Given the description of an element on the screen output the (x, y) to click on. 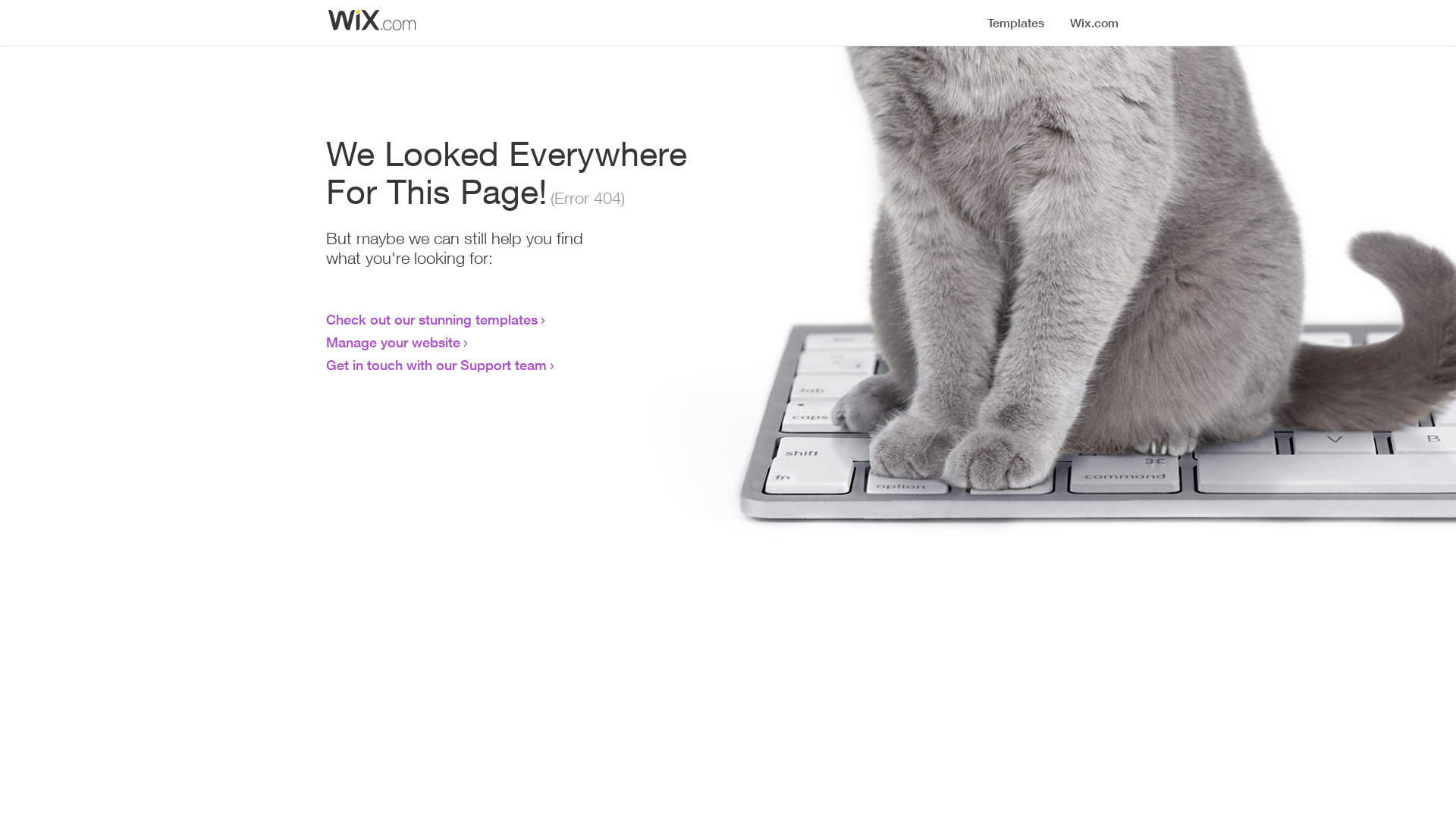
Manage your website Element type: text (393, 341)
Get in touch with our Support team Element type: text (436, 364)
Check out our stunning templates Element type: text (431, 318)
